Given the description of an element on the screen output the (x, y) to click on. 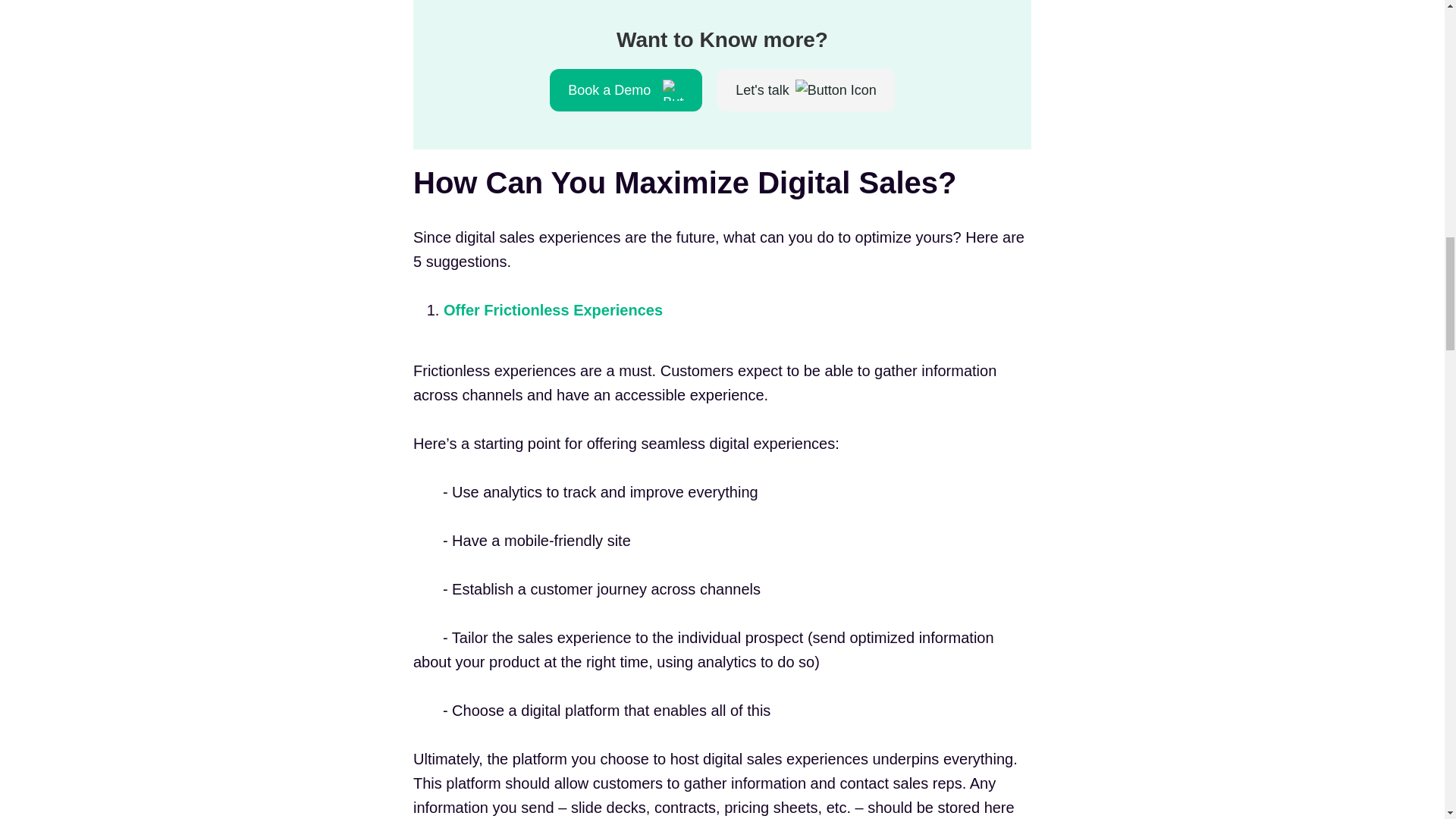
Let's talk (806, 89)
Book a Demo (625, 89)
